Given the description of an element on the screen output the (x, y) to click on. 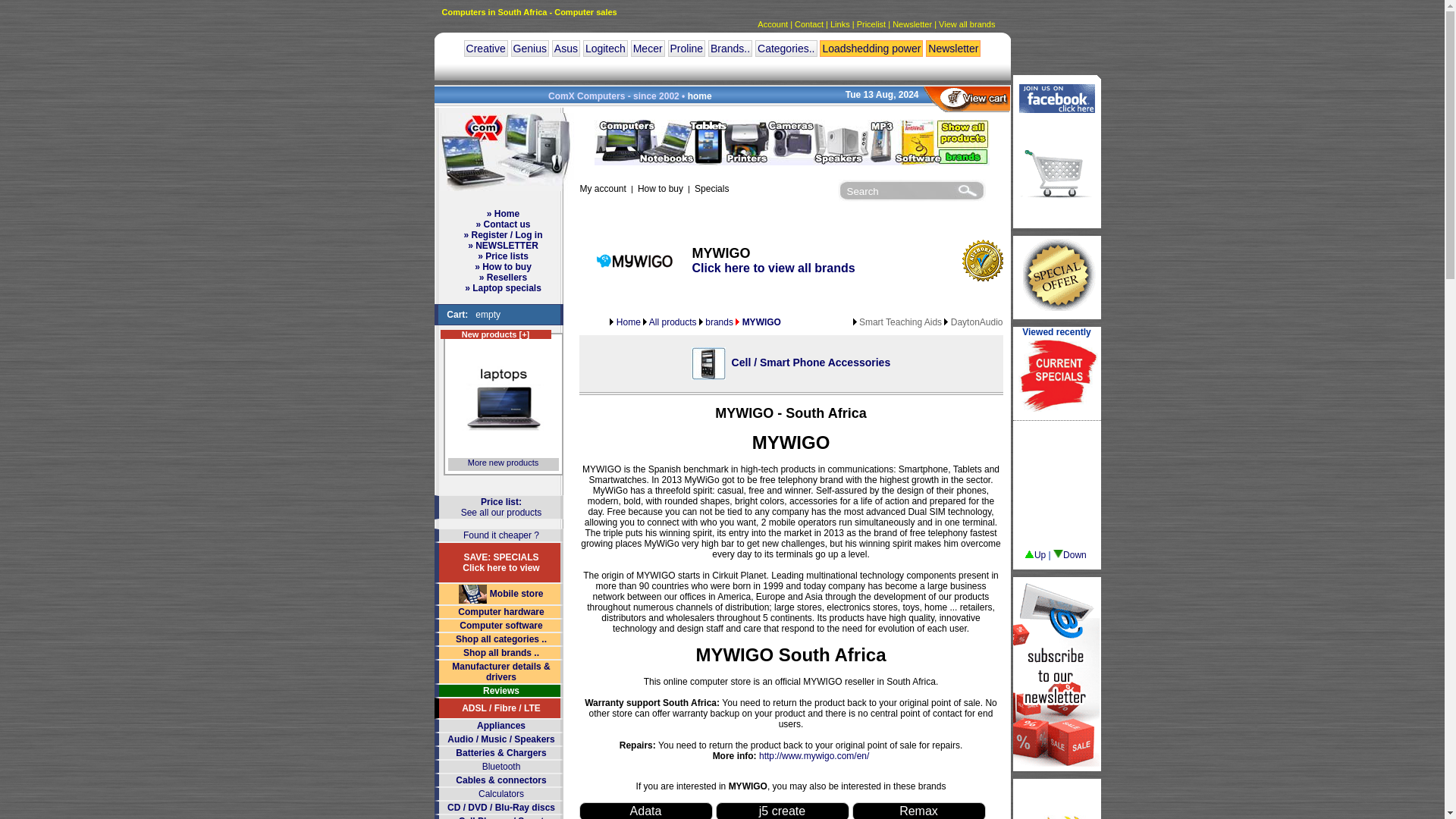
Pricelist (871, 23)
Loadshedding power (871, 48)
Asus (565, 48)
Bluetooth (501, 766)
Newsletter (952, 48)
Logitech (605, 48)
Account (772, 23)
Links (839, 23)
Up (1035, 554)
Mecer (647, 48)
